Given the description of an element on the screen output the (x, y) to click on. 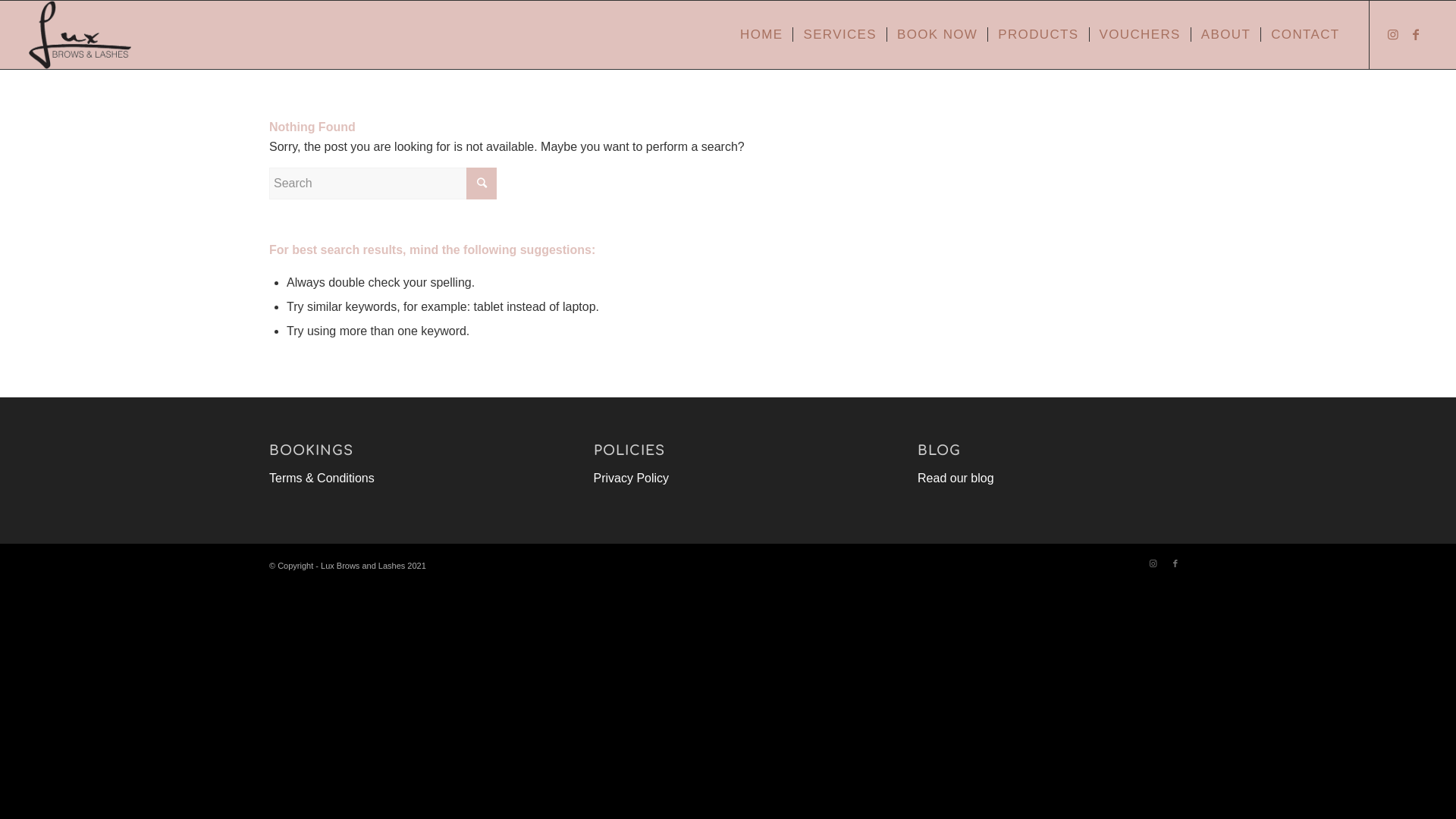
Facebook Element type: hover (1415, 33)
CONTACT Element type: text (1304, 34)
SERVICES Element type: text (839, 34)
Facebook Element type: hover (1175, 563)
Terms & Conditions Element type: text (321, 477)
Privacy Policy Element type: text (631, 477)
Instagram Element type: hover (1152, 563)
HOME Element type: text (761, 34)
Read our blog Element type: text (955, 477)
Instagram Element type: hover (1392, 33)
PRODUCTS Element type: text (1037, 34)
ABOUT Element type: text (1225, 34)
BOOK NOW Element type: text (936, 34)
VOUCHERS Element type: text (1139, 34)
